Given the description of an element on the screen output the (x, y) to click on. 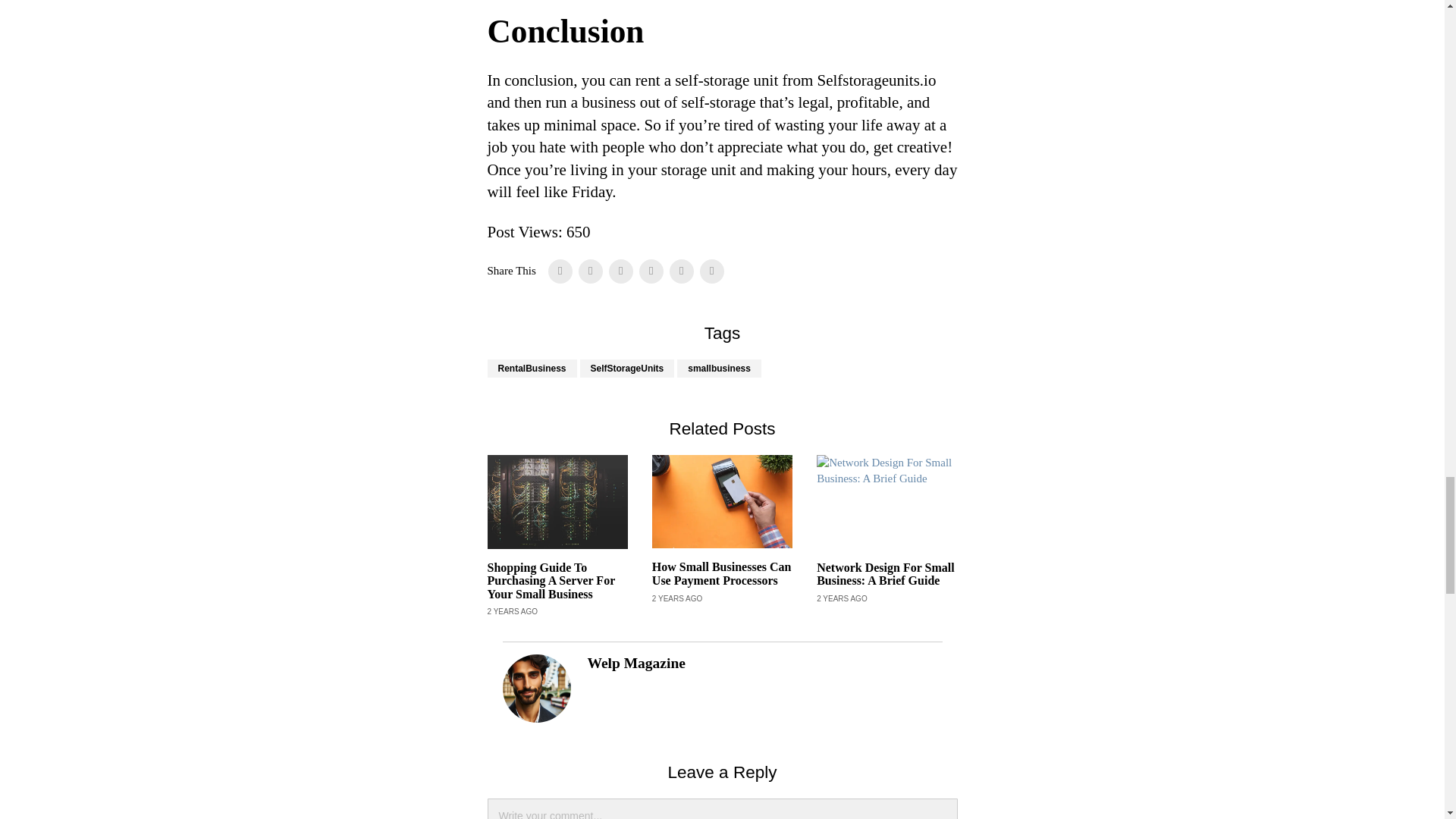
02 Sep, 2022 11:35:14 (511, 611)
28 Jun, 2022 23:33:05 (841, 598)
23 Jul, 2022 11:48:48 (677, 598)
